Given the description of an element on the screen output the (x, y) to click on. 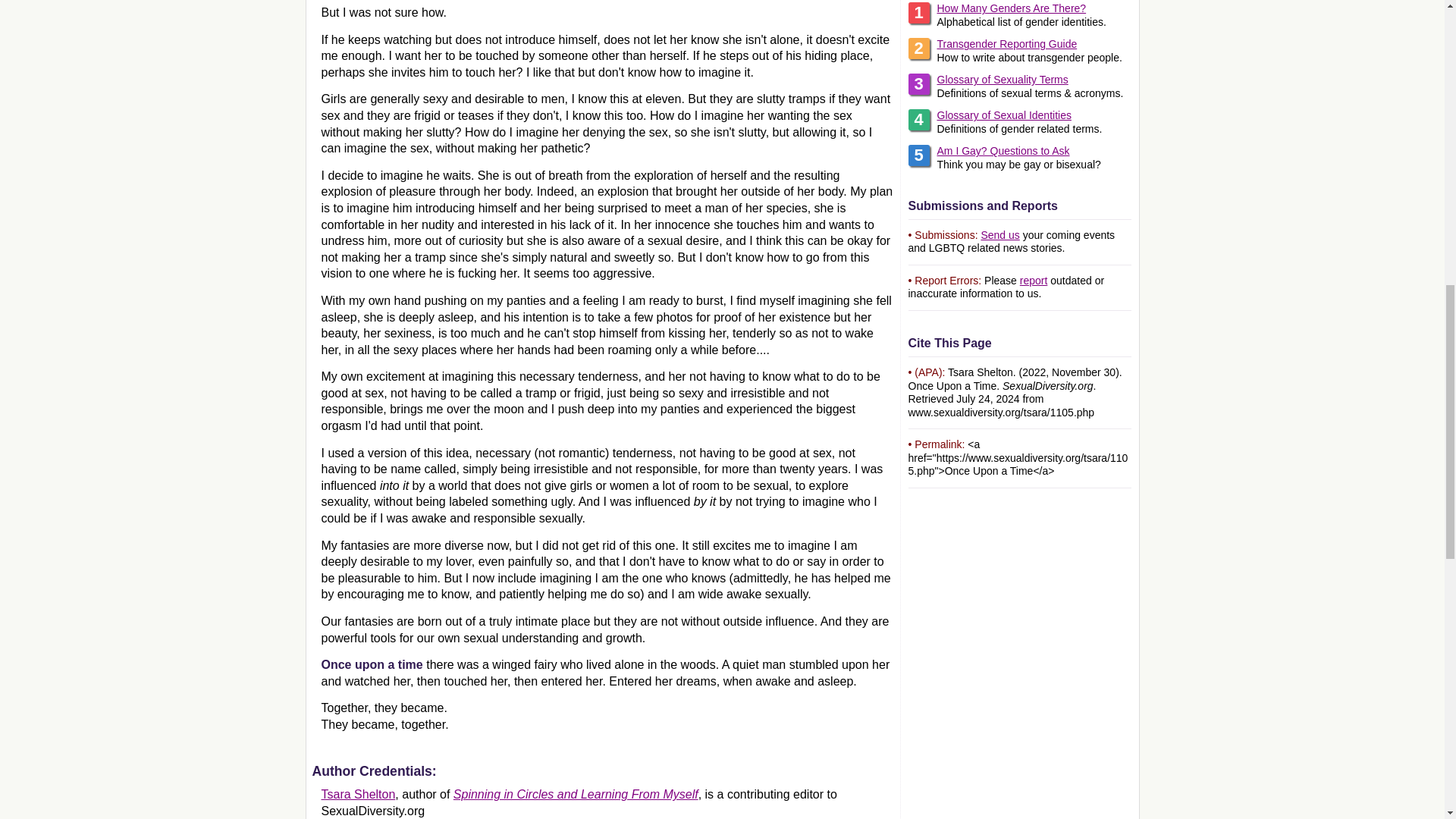
Spinning in Circles and Learning From Myself (575, 793)
Tsara Shelton (358, 793)
